Given the description of an element on the screen output the (x, y) to click on. 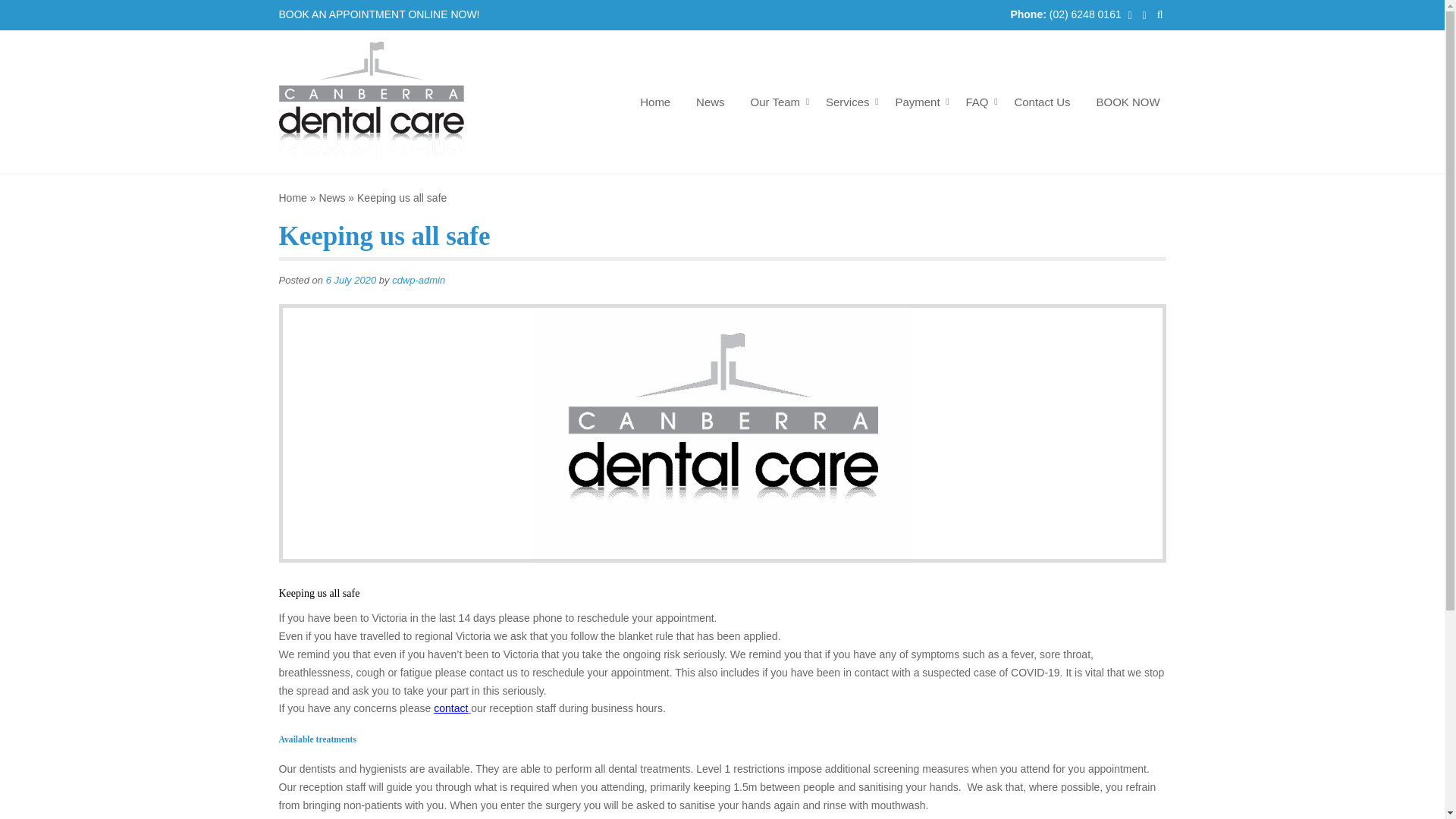
Our Team (775, 101)
BOOK AN APPOINTMENT ONLINE NOW! (381, 14)
Services (846, 101)
